Given the description of an element on the screen output the (x, y) to click on. 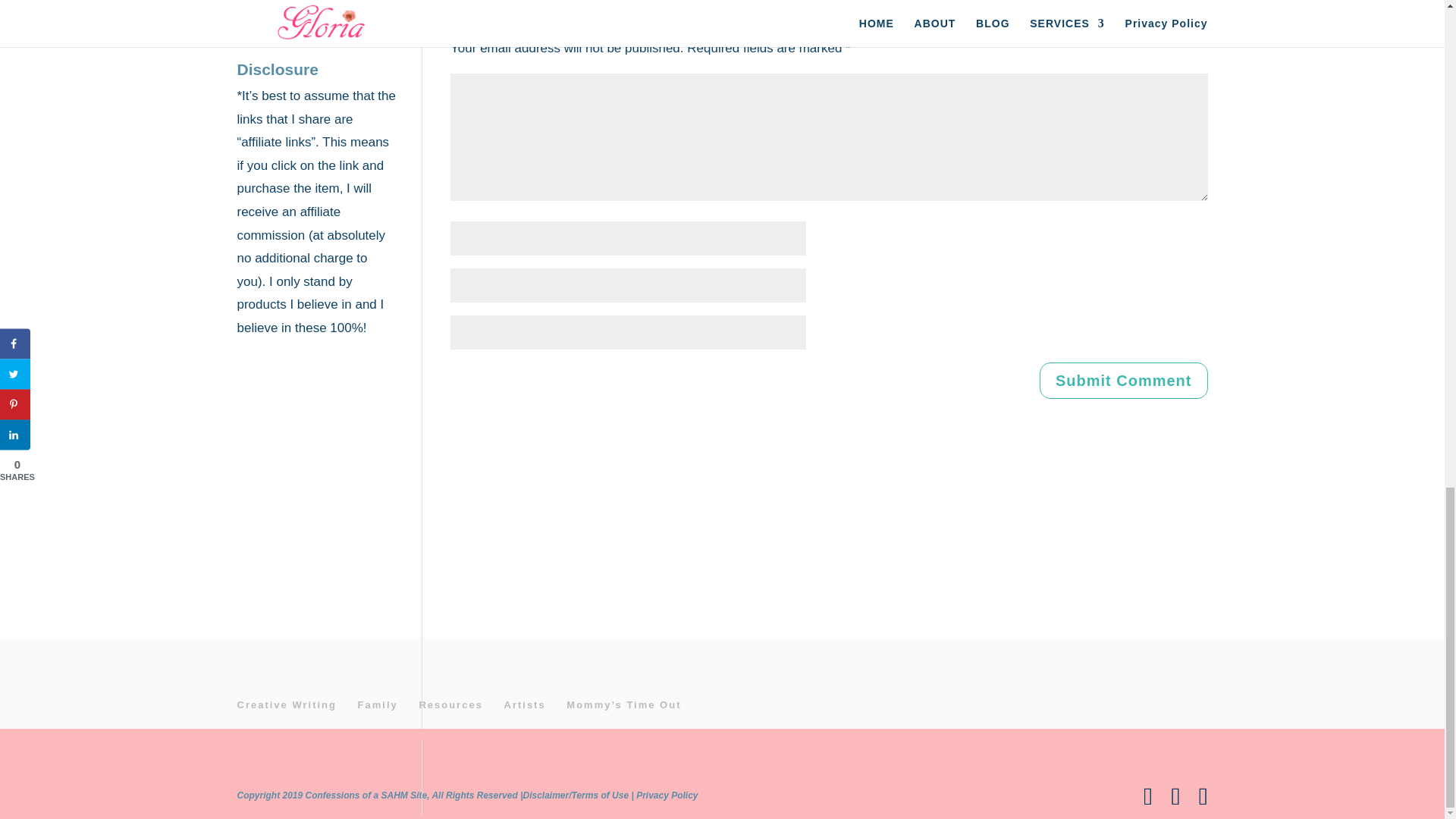
Family (377, 704)
Resources (450, 704)
Creative Writing (285, 704)
Submit Comment (1123, 380)
Submit Comment (1123, 380)
